Given the description of an element on the screen output the (x, y) to click on. 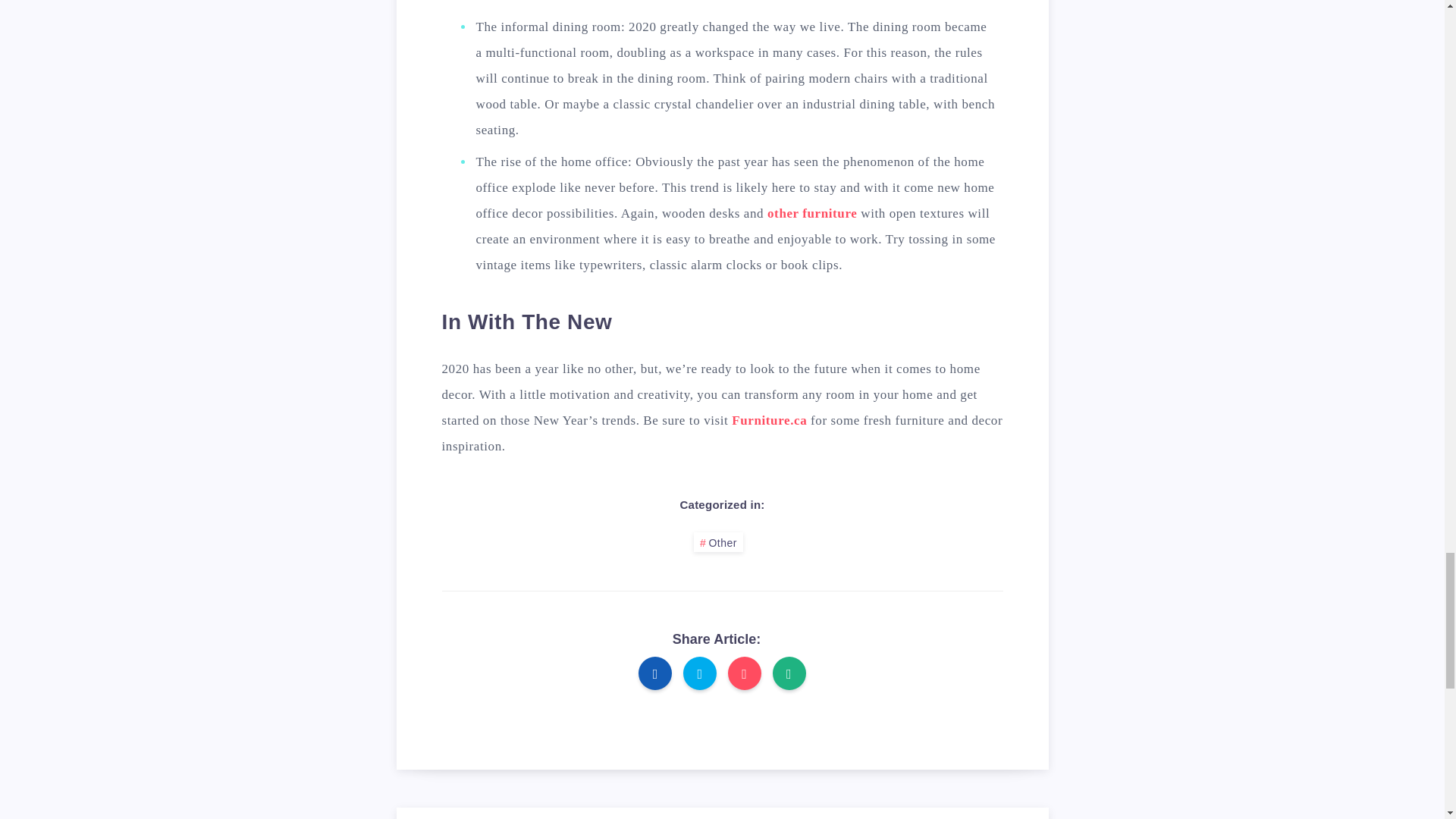
Furniture.ca (769, 420)
Other (718, 542)
other furniture (812, 213)
